Given the description of an element on the screen output the (x, y) to click on. 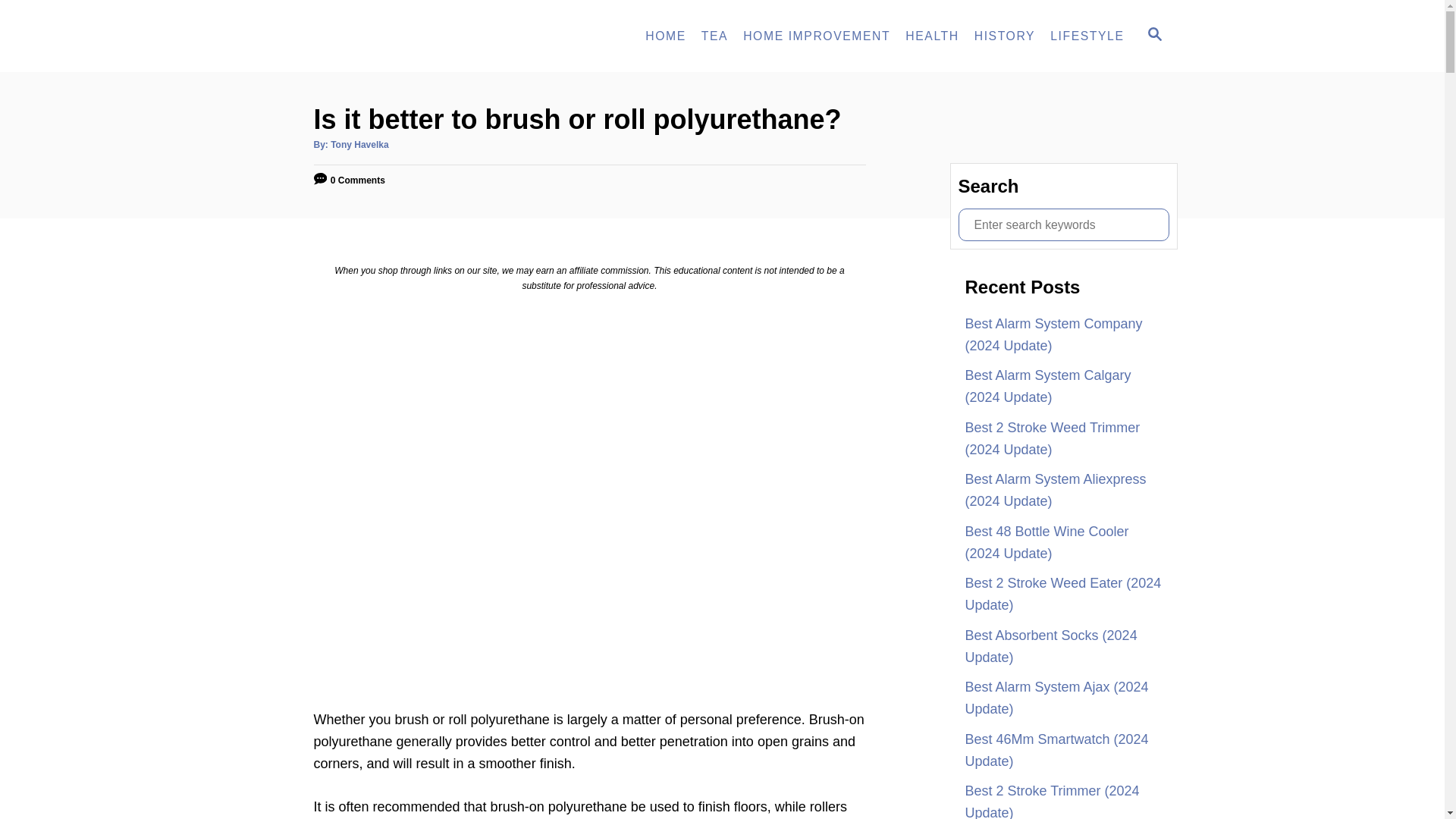
Search for: (1063, 224)
HOME (665, 36)
MAGNIFYING GLASS (1153, 34)
Liquid Image (403, 36)
TEA (714, 36)
Search (22, 22)
LIFESTYLE (1086, 36)
HOME IMPROVEMENT (816, 36)
